Given the description of an element on the screen output the (x, y) to click on. 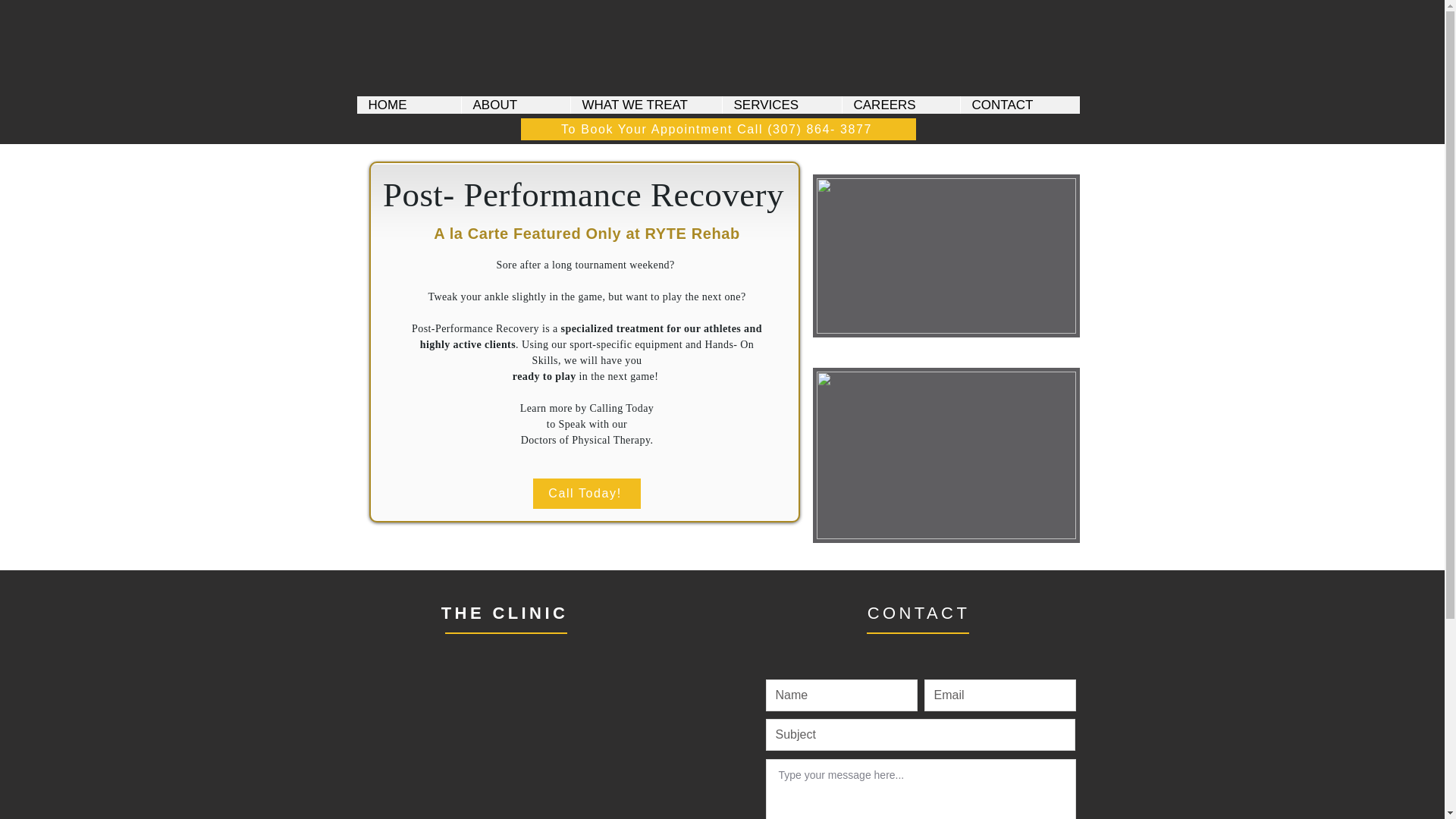
Call Today! (586, 493)
CAREERS (900, 104)
CONTACT (1019, 104)
Basketball Match (946, 255)
Athlete Concentrating (946, 454)
HOME (408, 104)
